Given the description of an element on the screen output the (x, y) to click on. 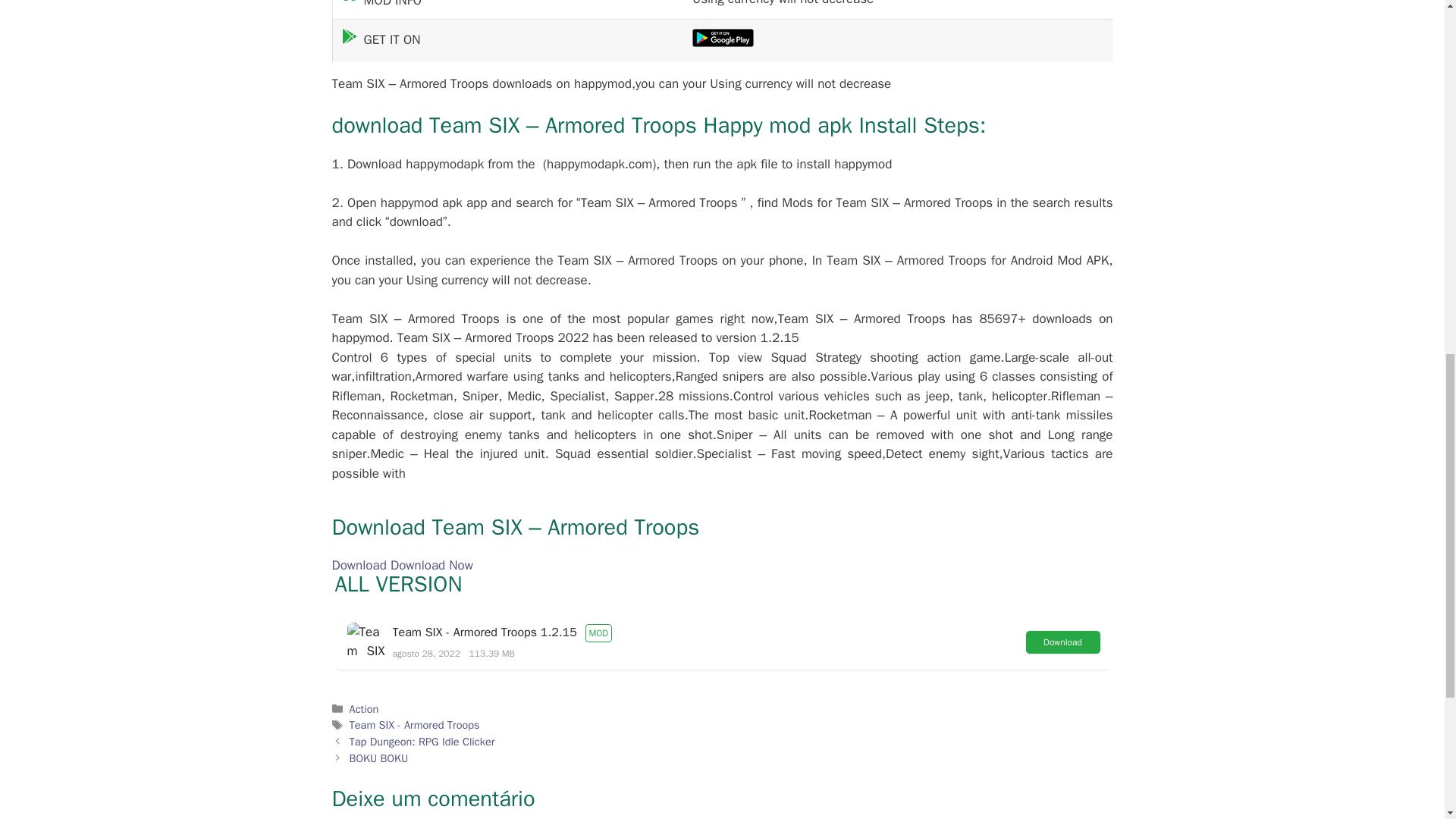
Action (363, 708)
Download (1062, 641)
Team SIX - Armored Troops 2Happymodapk Free Download (723, 37)
Team SIX - Armored Troops (414, 725)
Team SIX - Armored Troops 3Happymodapk Free Download (366, 641)
Tap Dungeon: RPG Idle Clicker (422, 741)
BOKU BOKU (379, 757)
Download Download Now (402, 565)
